Given the description of an element on the screen output the (x, y) to click on. 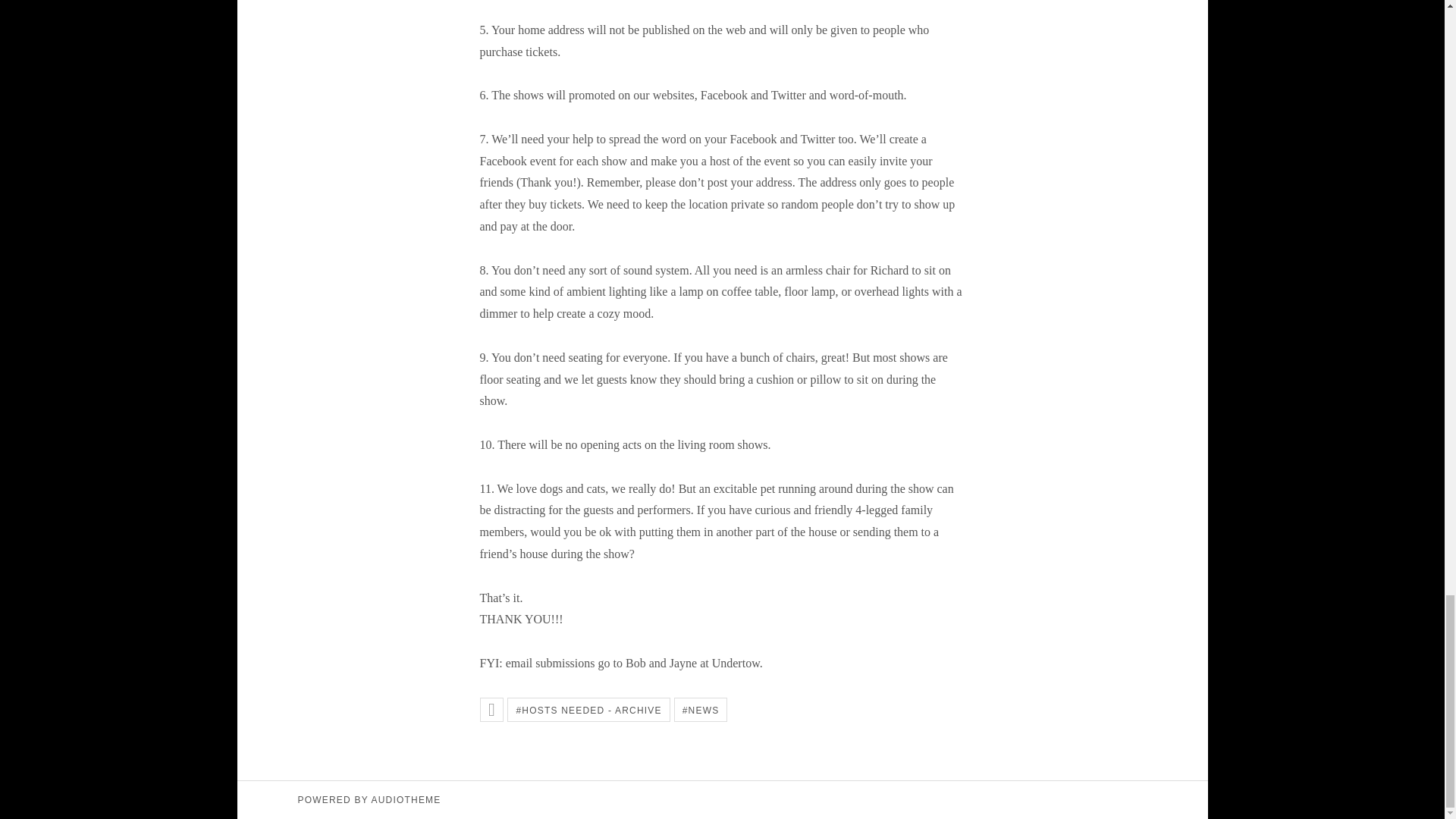
AUDIOTHEME (406, 799)
HOSTS NEEDED - ARCHIVE (587, 709)
NEWS (701, 709)
